Given the description of an element on the screen output the (x, y) to click on. 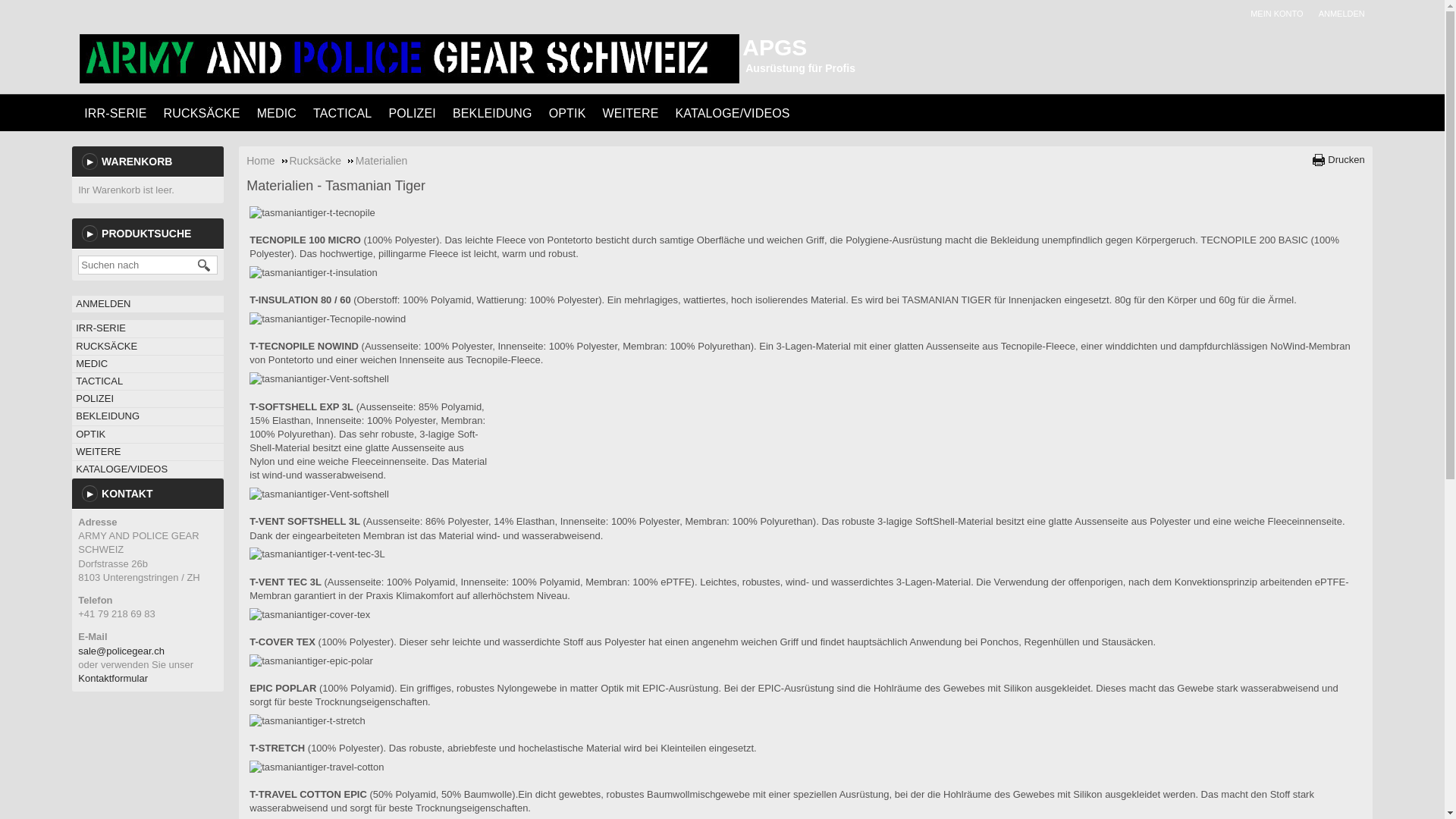
WEITERE Element type: text (629, 112)
APGS Element type: hover (409, 58)
tasmaniantiger-t-stretch Element type: hover (307, 721)
sale@policegear.ch Element type: text (121, 650)
OPTIK Element type: text (147, 434)
tasmaniantiger-Vent-softshell Element type: hover (319, 378)
tasmaniantiger-t-vent-tec-3L Element type: hover (317, 554)
POLIZEI Element type: text (411, 112)
tasmaniantiger-Tecnopile-nowind Element type: hover (327, 319)
WEITERE Element type: text (147, 451)
tasmaniantiger-Vent-softshell Element type: hover (319, 494)
TACTICAL Element type: text (342, 112)
tasmaniantiger-t-tecnopile Element type: hover (312, 212)
Suche starten Element type: hover (204, 265)
tasmaniantiger-cover-tex Element type: hover (309, 614)
tasmaniantiger-epic-polar Element type: hover (311, 661)
tasmaniantiger-travel-cotton Element type: hover (316, 767)
Home Element type: text (266, 160)
IRR-SERIE Element type: text (147, 328)
tasmaniantiger-t-insulation Element type: hover (312, 272)
ANMELDEN Element type: text (102, 303)
BEKLEIDUNG Element type: text (147, 416)
TACTICAL Element type: text (147, 381)
Drucken Element type: text (1338, 160)
Kontaktformular Element type: text (112, 678)
MEIN KONTO Element type: text (1280, 13)
APGS Element type: text (774, 46)
OPTIK Element type: text (567, 112)
MEDIC Element type: text (276, 112)
KATALOGE/VIDEOS Element type: text (147, 469)
MEDIC Element type: text (147, 363)
IRR-SERIE Element type: text (114, 112)
POLIZEI Element type: text (147, 398)
KATALOGE/VIDEOS Element type: text (731, 112)
BEKLEIDUNG Element type: text (492, 112)
ANMELDEN Element type: text (1345, 13)
